Given the description of an element on the screen output the (x, y) to click on. 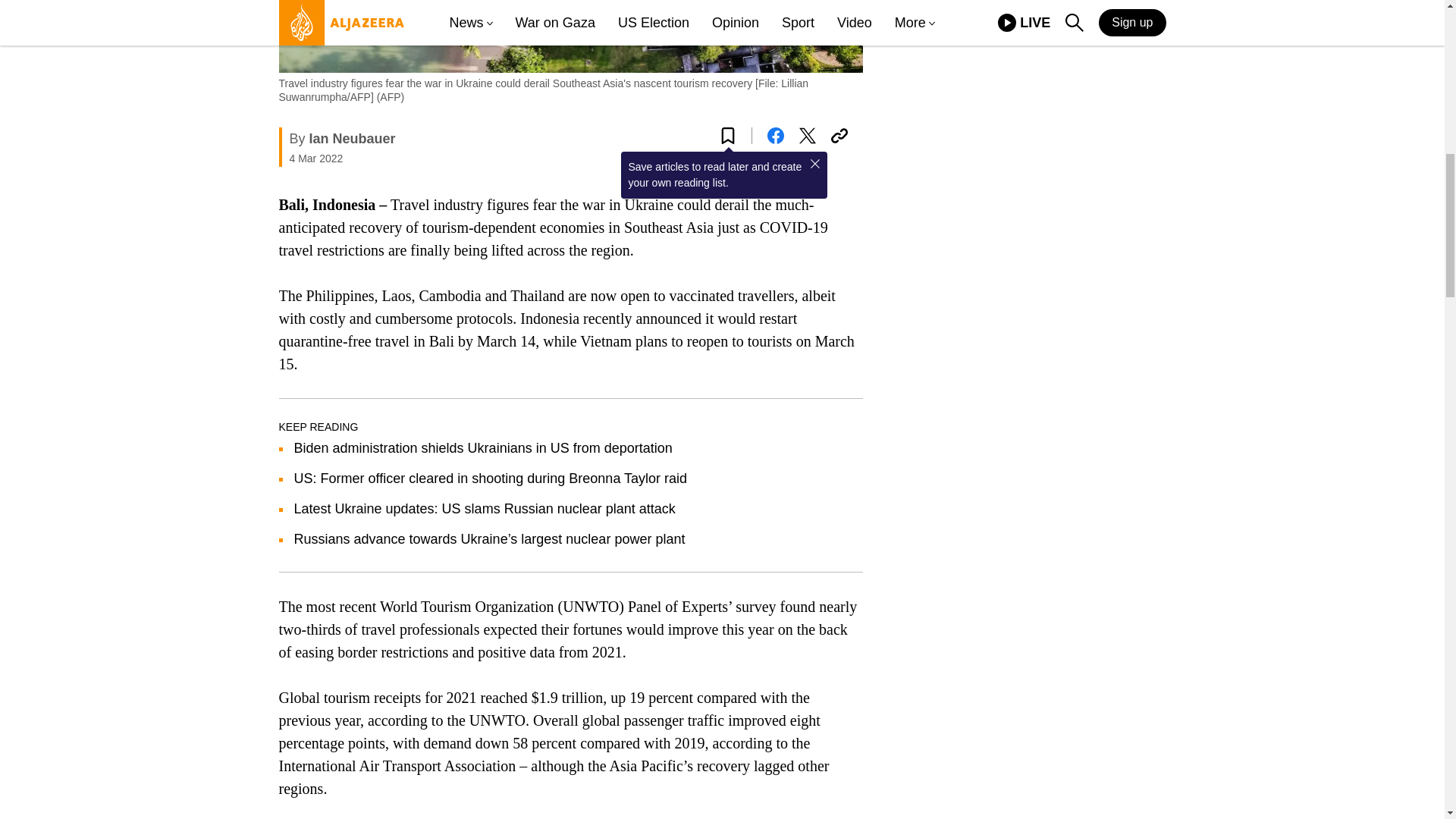
facebook (775, 135)
Ian Neubauer (352, 138)
Close Tooltip (814, 163)
twitter (807, 135)
copylink (839, 135)
copylink (839, 135)
twitter (807, 135)
facebook (775, 135)
